Given the description of an element on the screen output the (x, y) to click on. 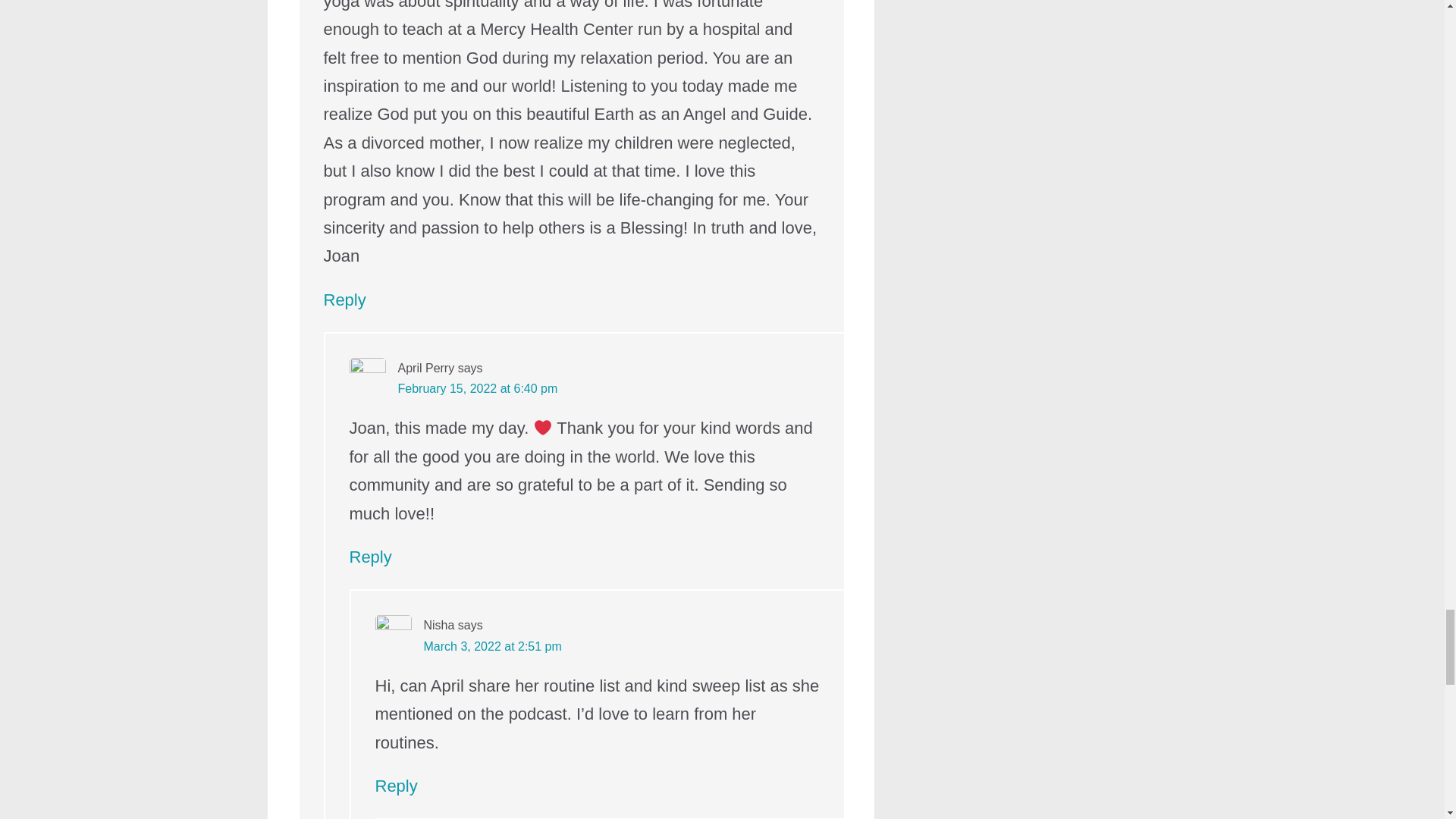
February 15, 2022 at 6:40 pm (477, 388)
Reply (344, 299)
Reply (395, 785)
March 3, 2022 at 2:51 pm (491, 645)
Reply (370, 556)
